Given the description of an element on the screen output the (x, y) to click on. 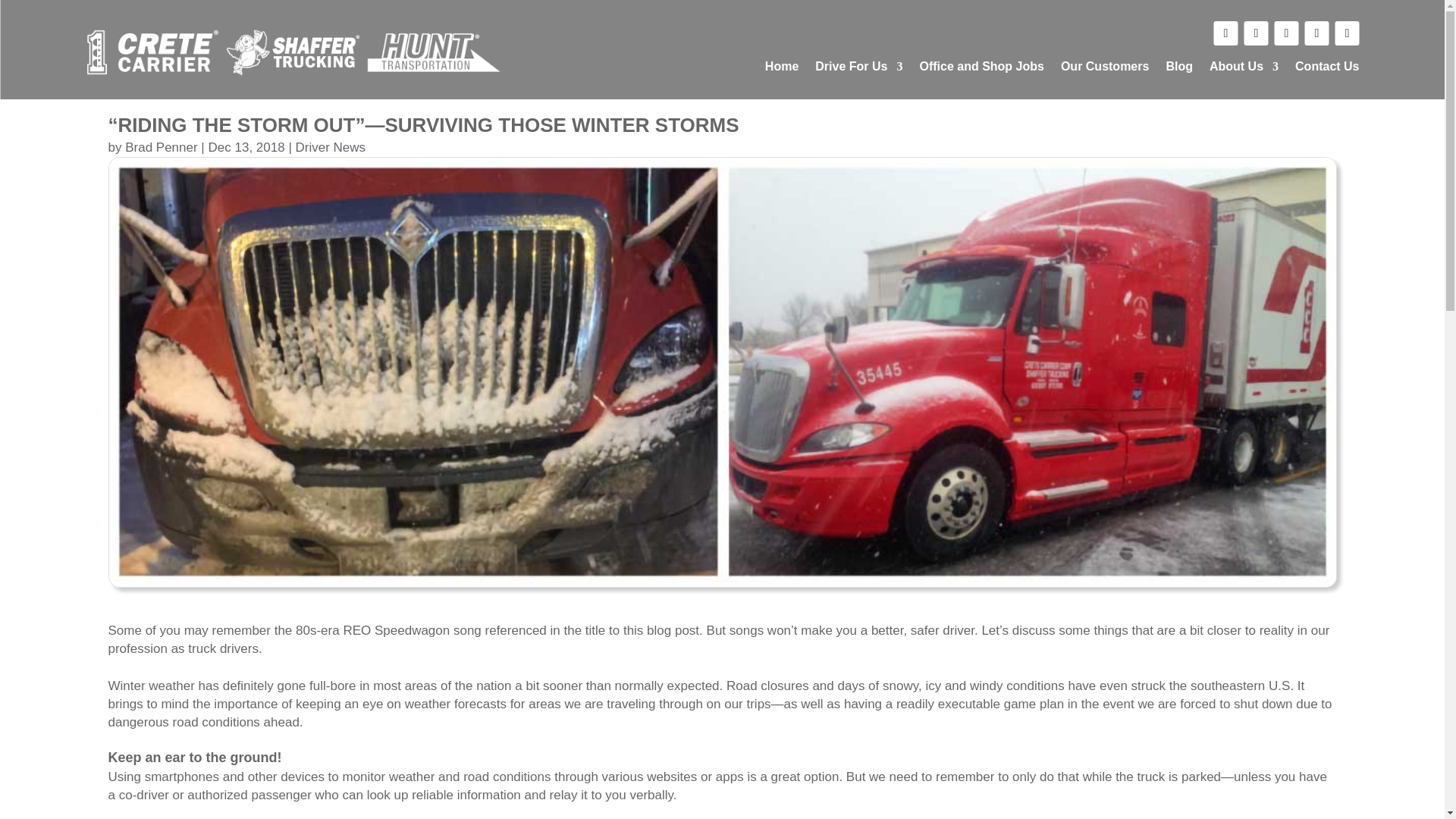
Office and Shop Jobs (980, 69)
Drive For Us (858, 69)
Follow on Facebook (1224, 33)
Home (781, 69)
Follow on LinkedIn (1286, 33)
Our Customers (1104, 69)
Follow on Youtube (1315, 33)
About Us (1243, 69)
Brad Penner (160, 147)
Posts by Brad Penner (160, 147)
